Given the description of an element on the screen output the (x, y) to click on. 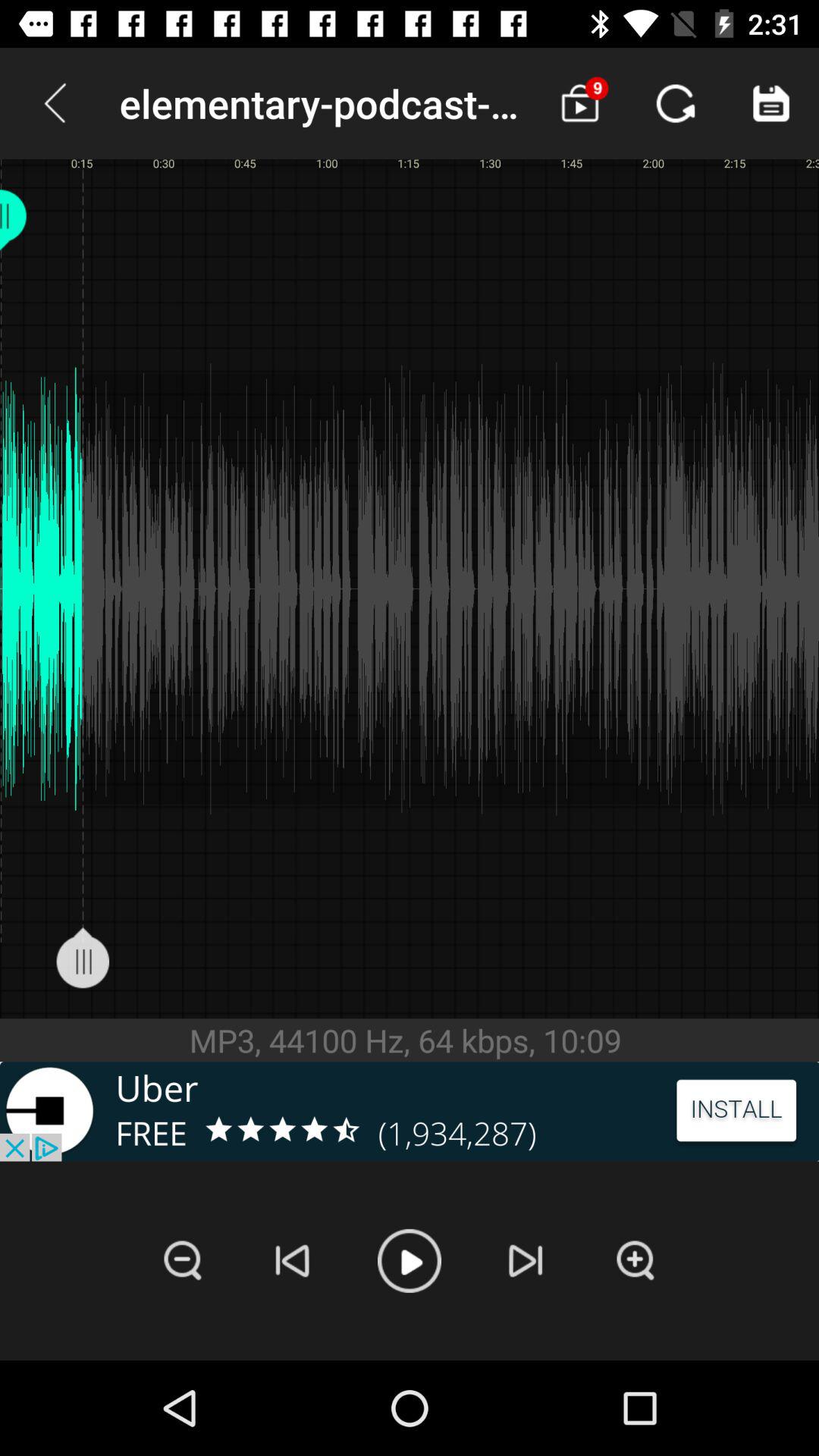
restart audio playback (292, 1260)
